Given the description of an element on the screen output the (x, y) to click on. 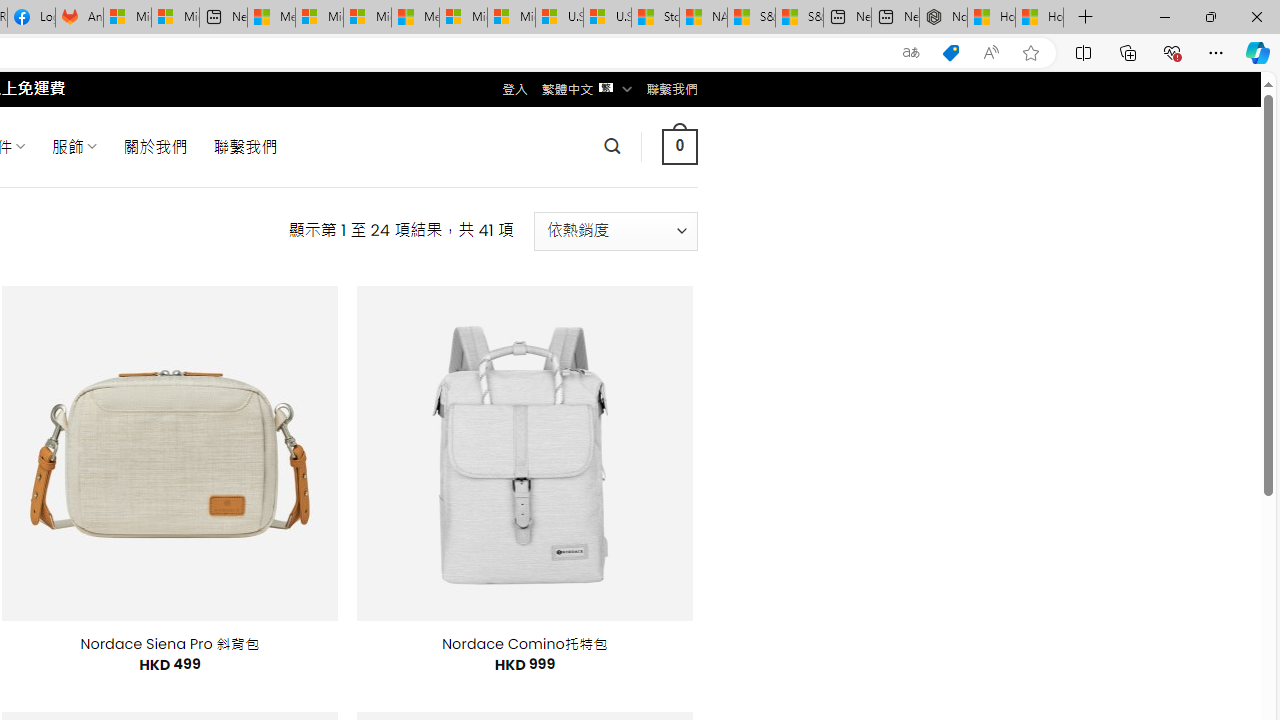
Show translate options (910, 53)
